Given the description of an element on the screen output the (x, y) to click on. 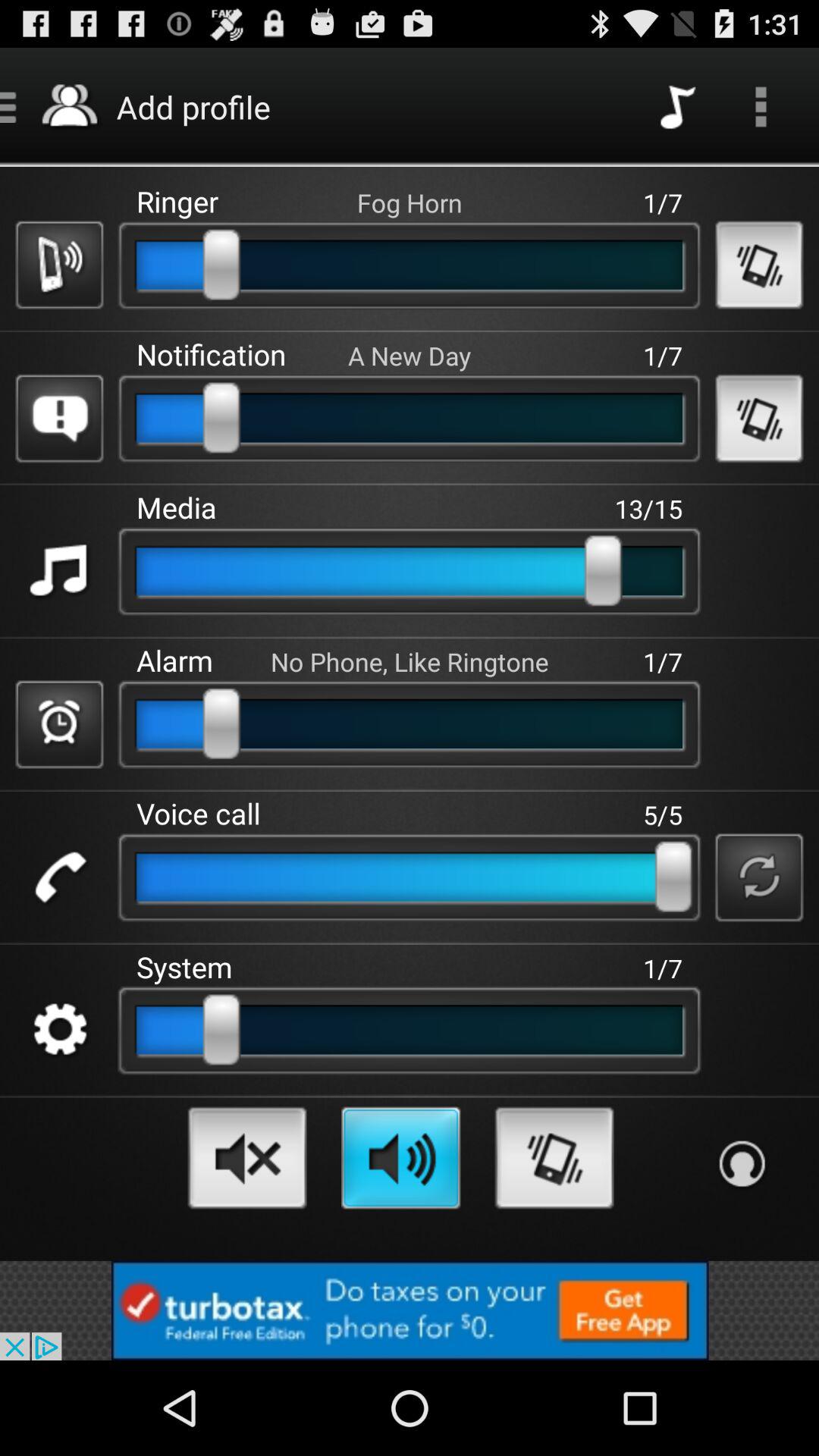
see options (760, 106)
